Given the description of an element on the screen output the (x, y) to click on. 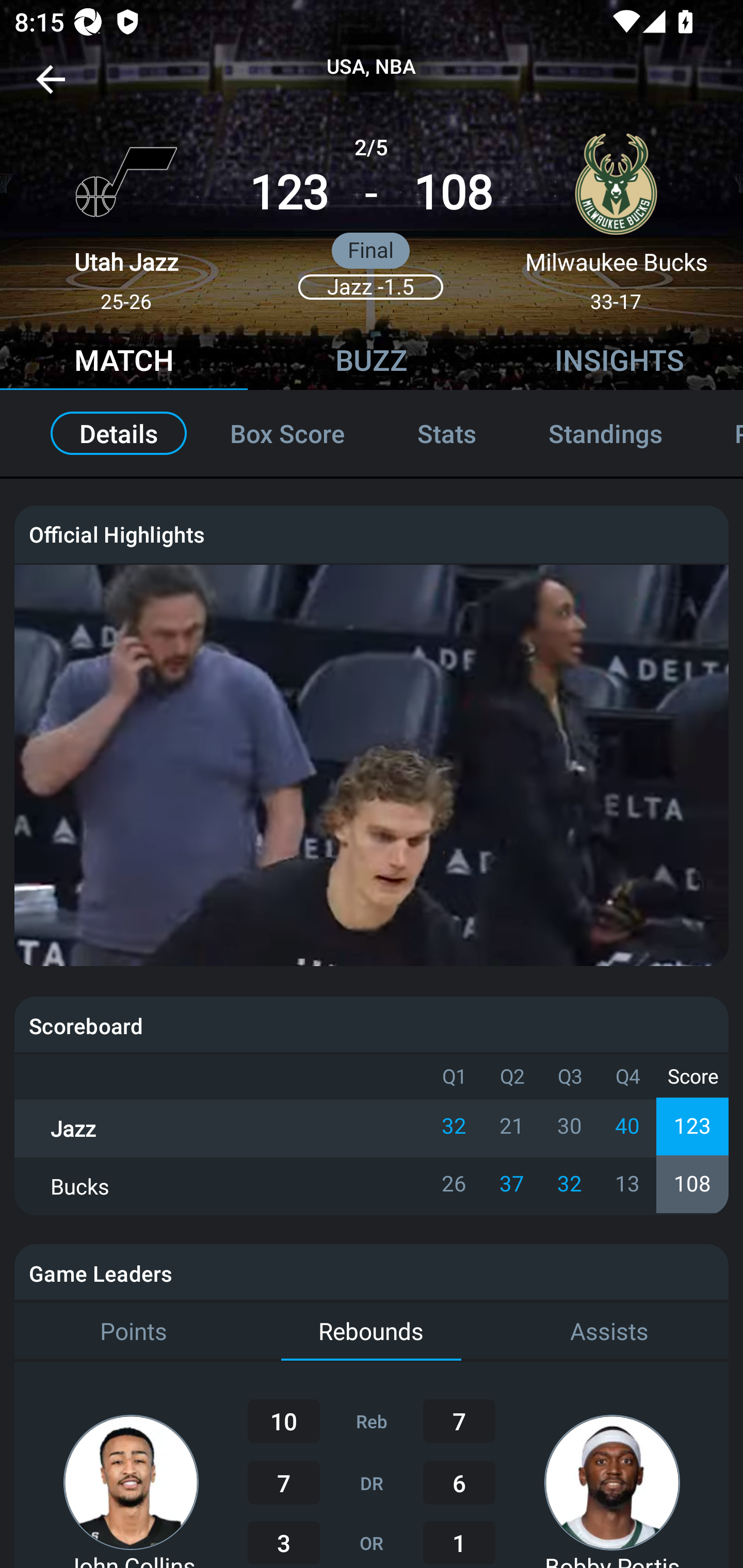
Navigate up (50, 86)
USA, NBA (371, 66)
Utah Jazz 25-26 (126, 214)
Milwaukee Bucks 33-17 (616, 214)
123 (288, 192)
108 (453, 192)
MATCH (123, 362)
BUZZ (371, 362)
INSIGHTS (619, 362)
Box Score (287, 433)
Stats (446, 433)
Standings (605, 433)
Official Highlights (371, 533)
Points (133, 1332)
Assists (609, 1332)
